Given the description of an element on the screen output the (x, y) to click on. 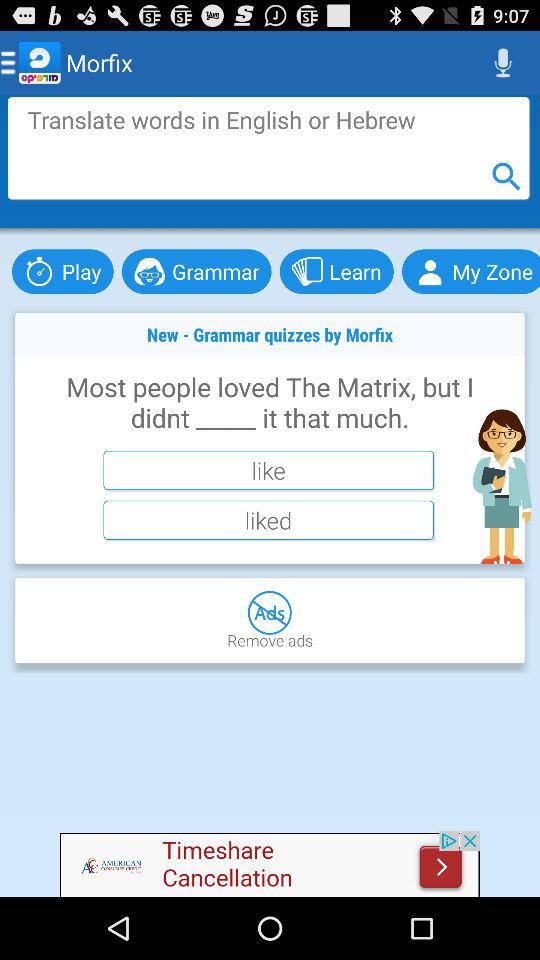
advertisement link (270, 864)
